Given the description of an element on the screen output the (x, y) to click on. 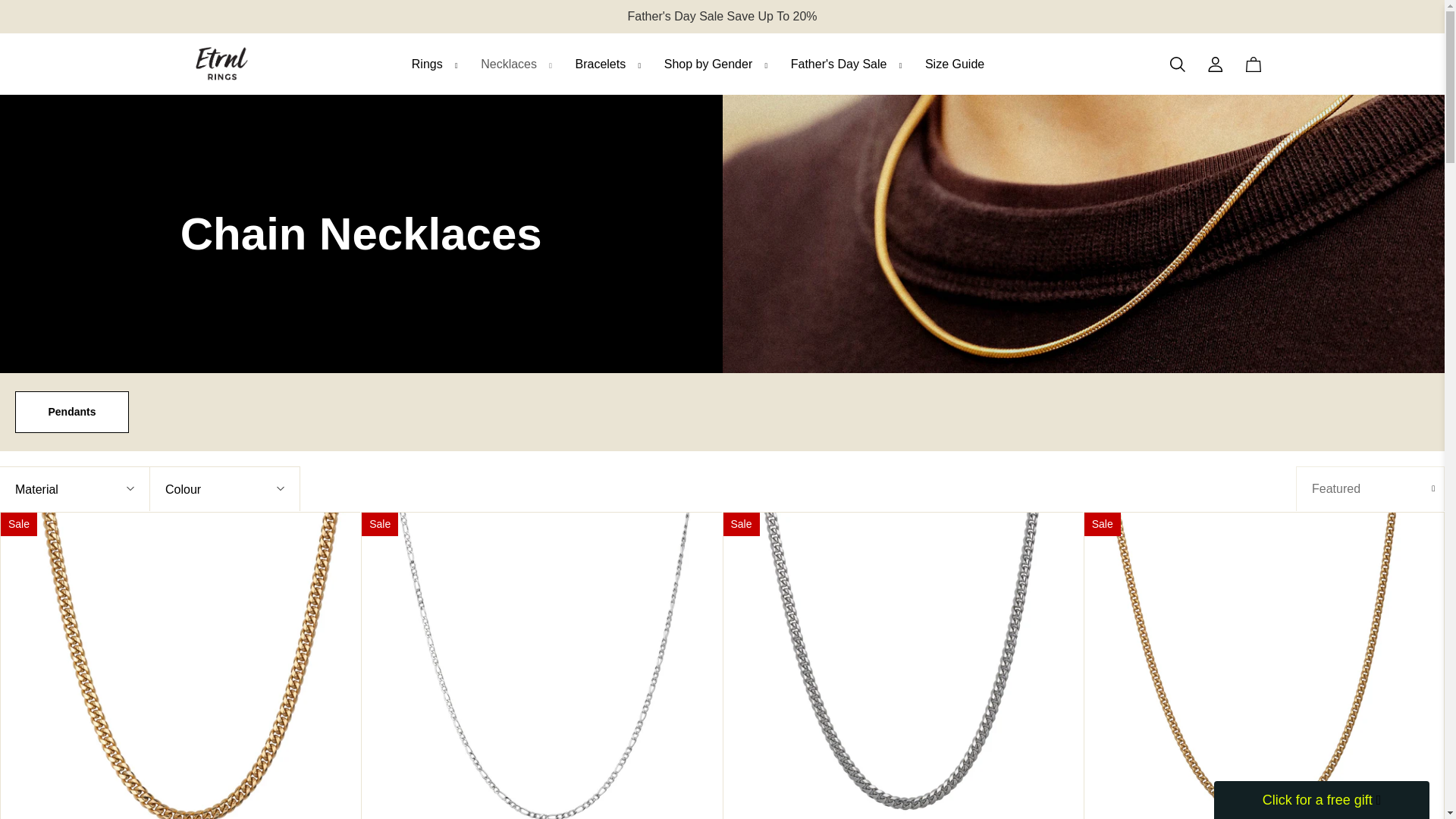
Bracelets (611, 64)
Father's Day Sale (850, 64)
ETRNL (221, 64)
Rings (437, 64)
Necklaces (520, 64)
Shop by Gender (719, 64)
Size Guide (954, 64)
